Given the description of an element on the screen output the (x, y) to click on. 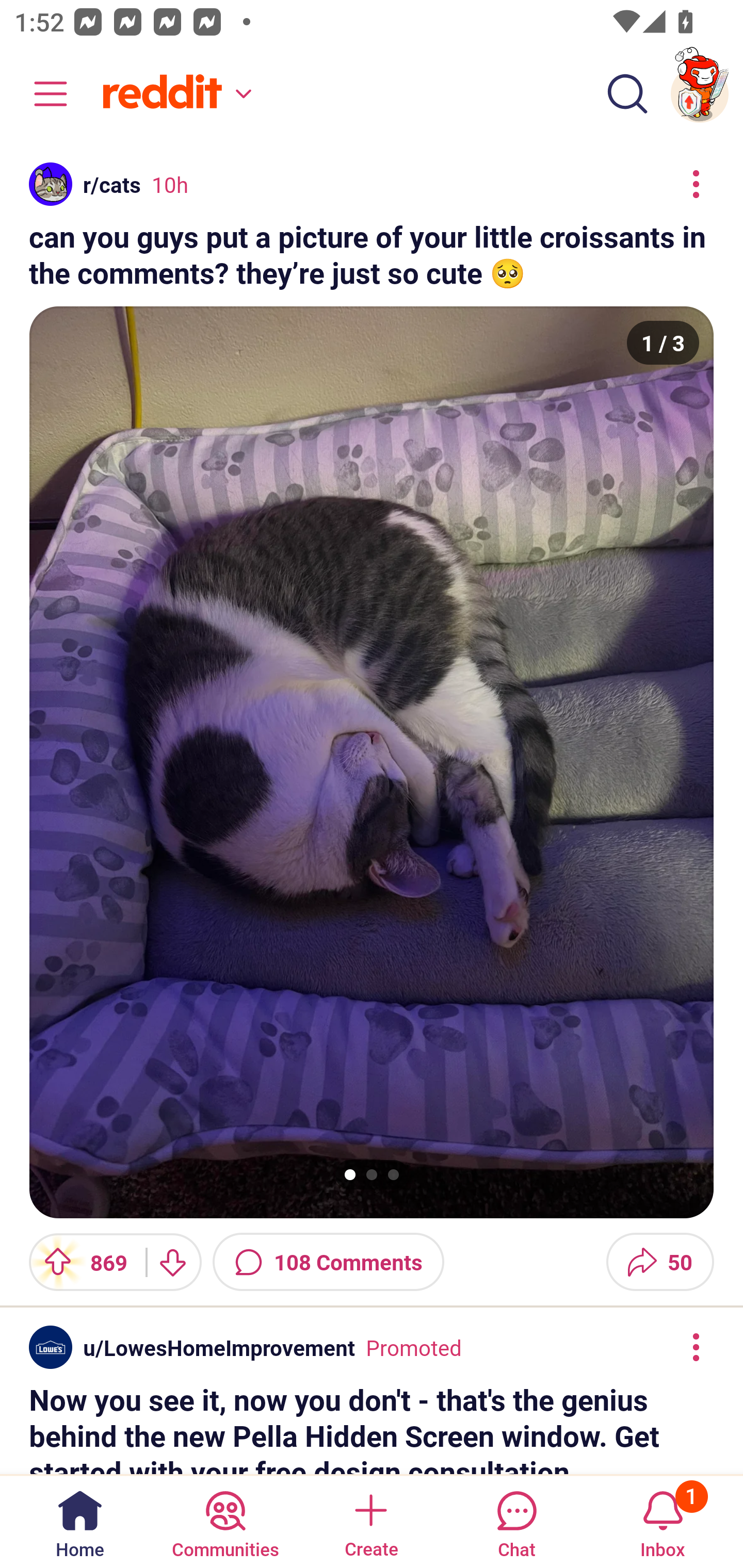
Search (626, 93)
TestAppium002 account (699, 93)
Community menu (41, 94)
Home feed (173, 94)
Home (80, 1520)
Communities (225, 1520)
Create a post Create (370, 1520)
Chat (516, 1520)
Inbox, has 1 notification 1 Inbox (662, 1520)
